Given the description of an element on the screen output the (x, y) to click on. 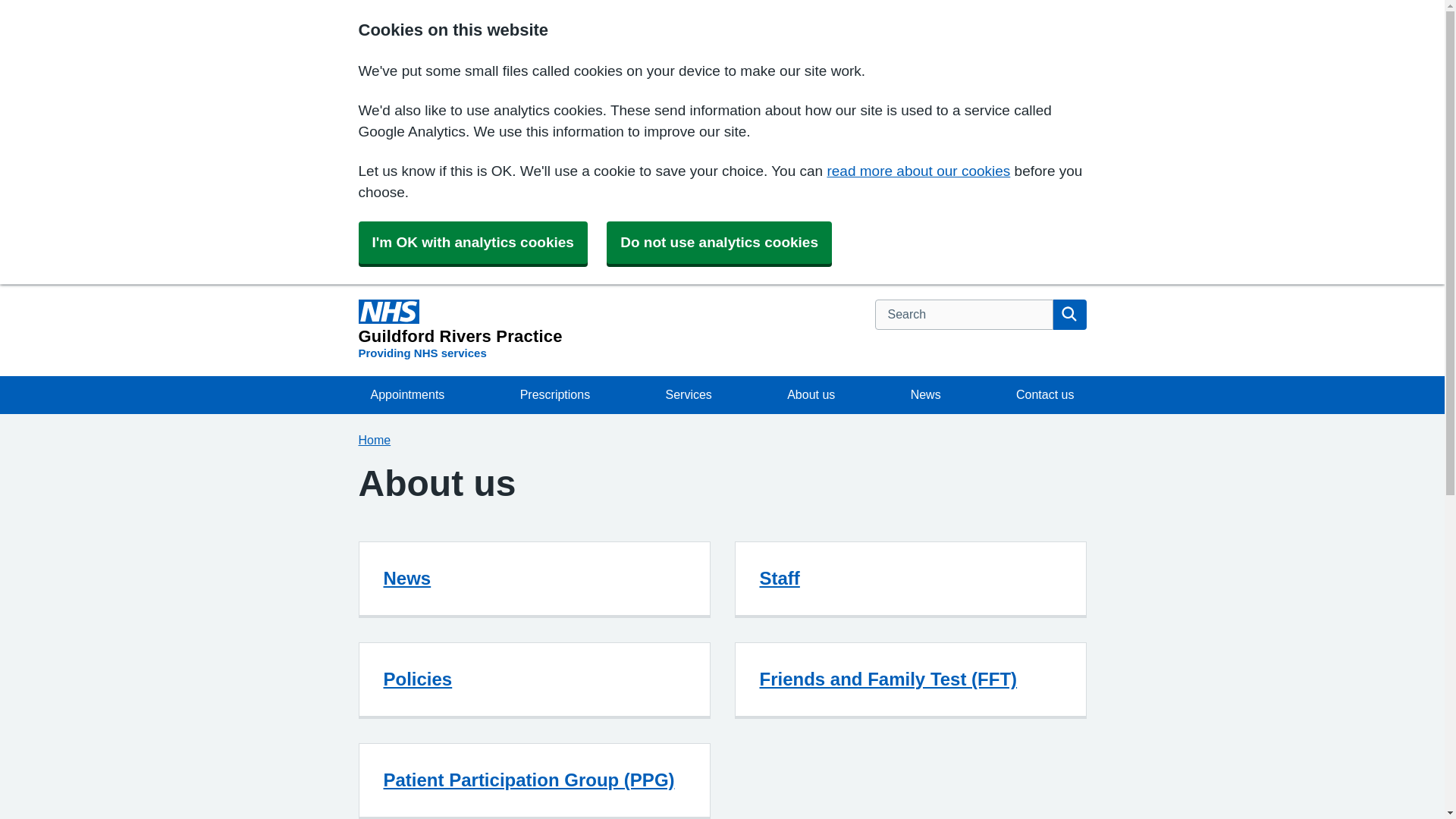
Home (374, 440)
Staff (779, 578)
Services (687, 394)
read more about our cookies (918, 170)
Prescriptions (460, 330)
Appointments (555, 394)
I'm OK with analytics cookies (407, 394)
News (472, 242)
About us (925, 394)
